Given the description of an element on the screen output the (x, y) to click on. 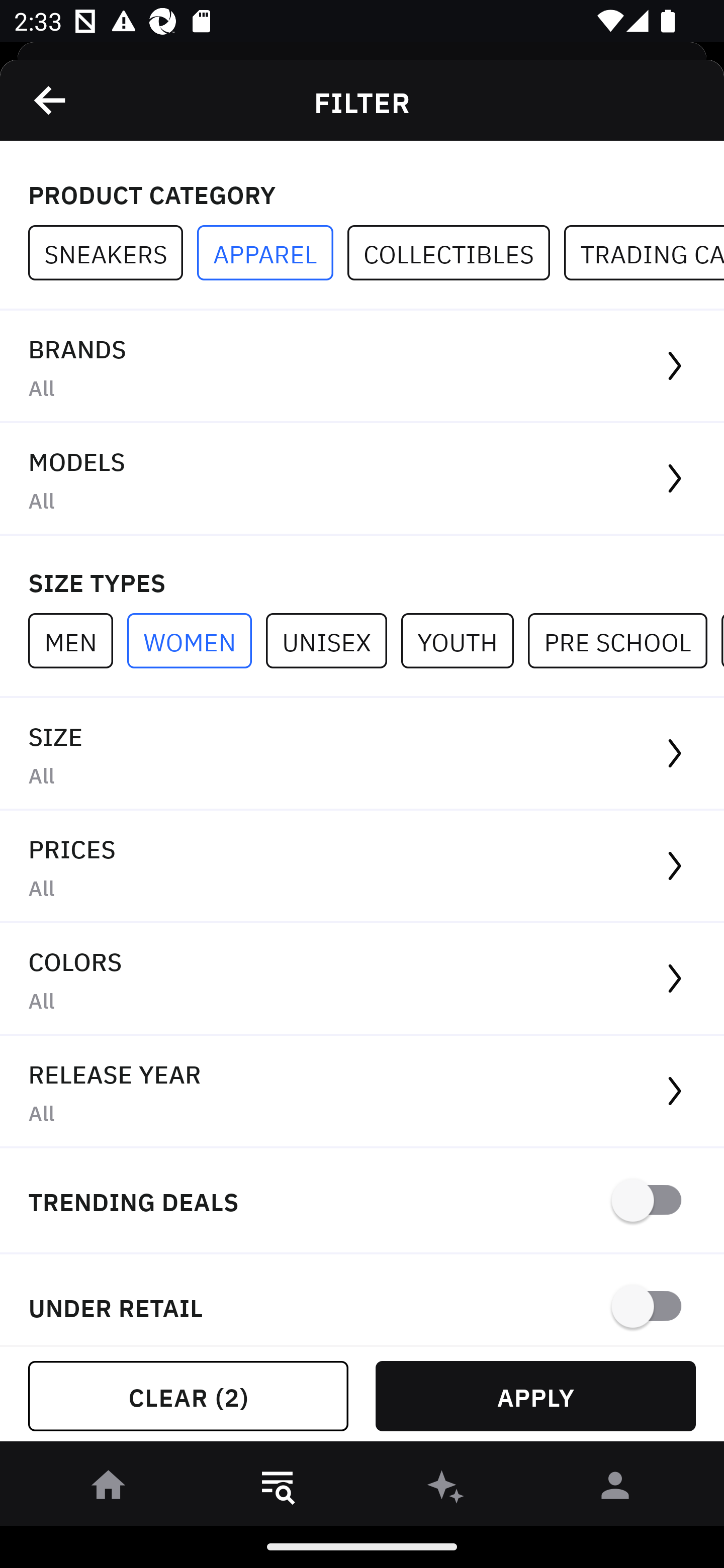
 (50, 100)
SNEAKERS (112, 252)
APPAREL (271, 252)
COLLECTIBLES (455, 252)
TRADING CARDS (643, 252)
BRANDS All (362, 366)
MODELS All (362, 479)
MEN (77, 640)
WOMEN (196, 640)
UNISEX (333, 640)
YOUTH (464, 640)
PRE SCHOOL (624, 640)
SIZE All (362, 753)
PRICES All (362, 866)
COLORS All (362, 979)
RELEASE YEAR All (362, 1091)
TRENDING DEALS (362, 1200)
UNDER RETAIL (362, 1299)
CLEAR (2) (188, 1396)
APPLY (535, 1396)
󰋜 (108, 1488)
󱎸 (277, 1488)
󰫢 (446, 1488)
󰀄 (615, 1488)
